Given the description of an element on the screen output the (x, y) to click on. 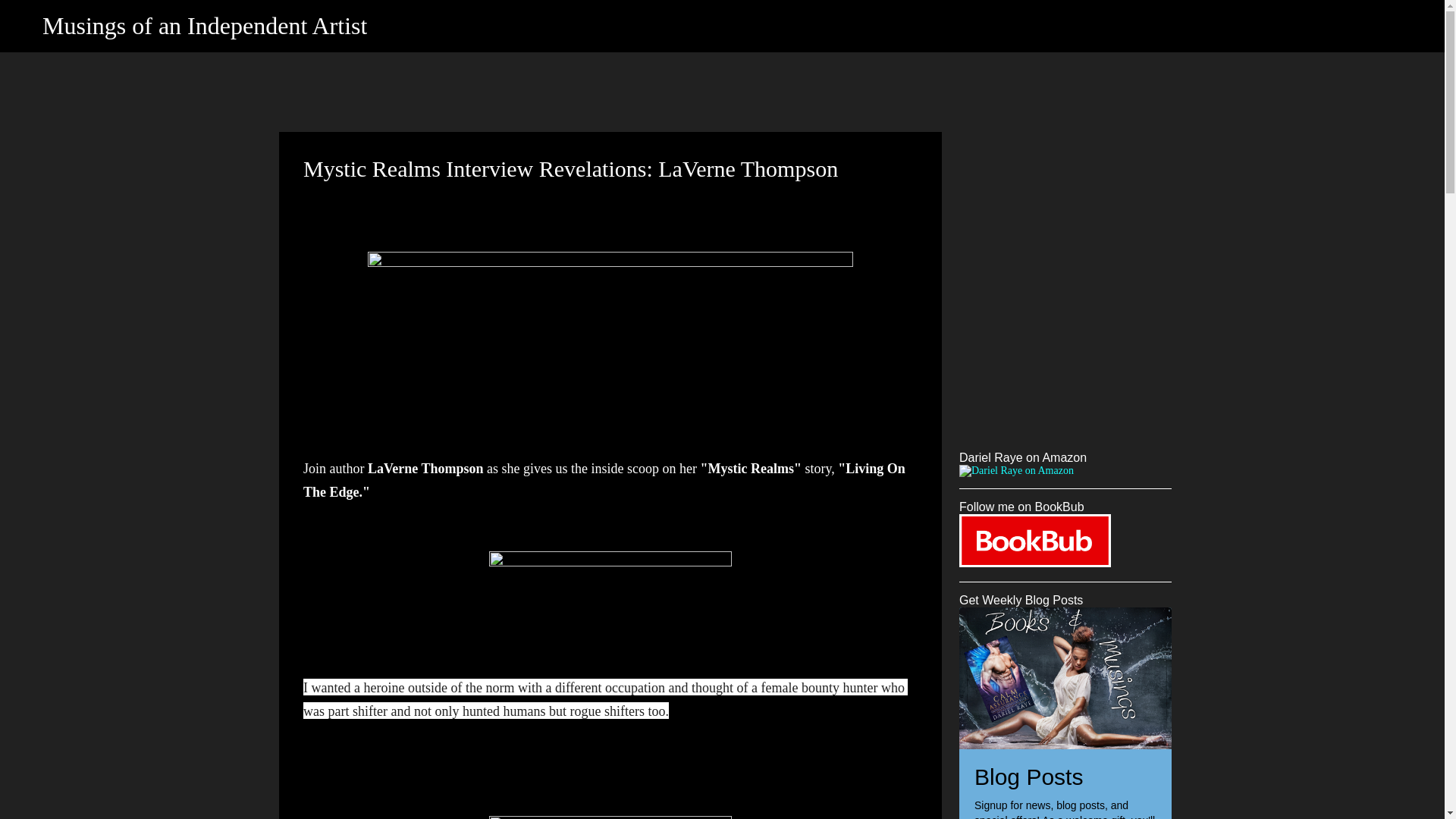
Musings of an Independent Artist (204, 25)
